Given the description of an element on the screen output the (x, y) to click on. 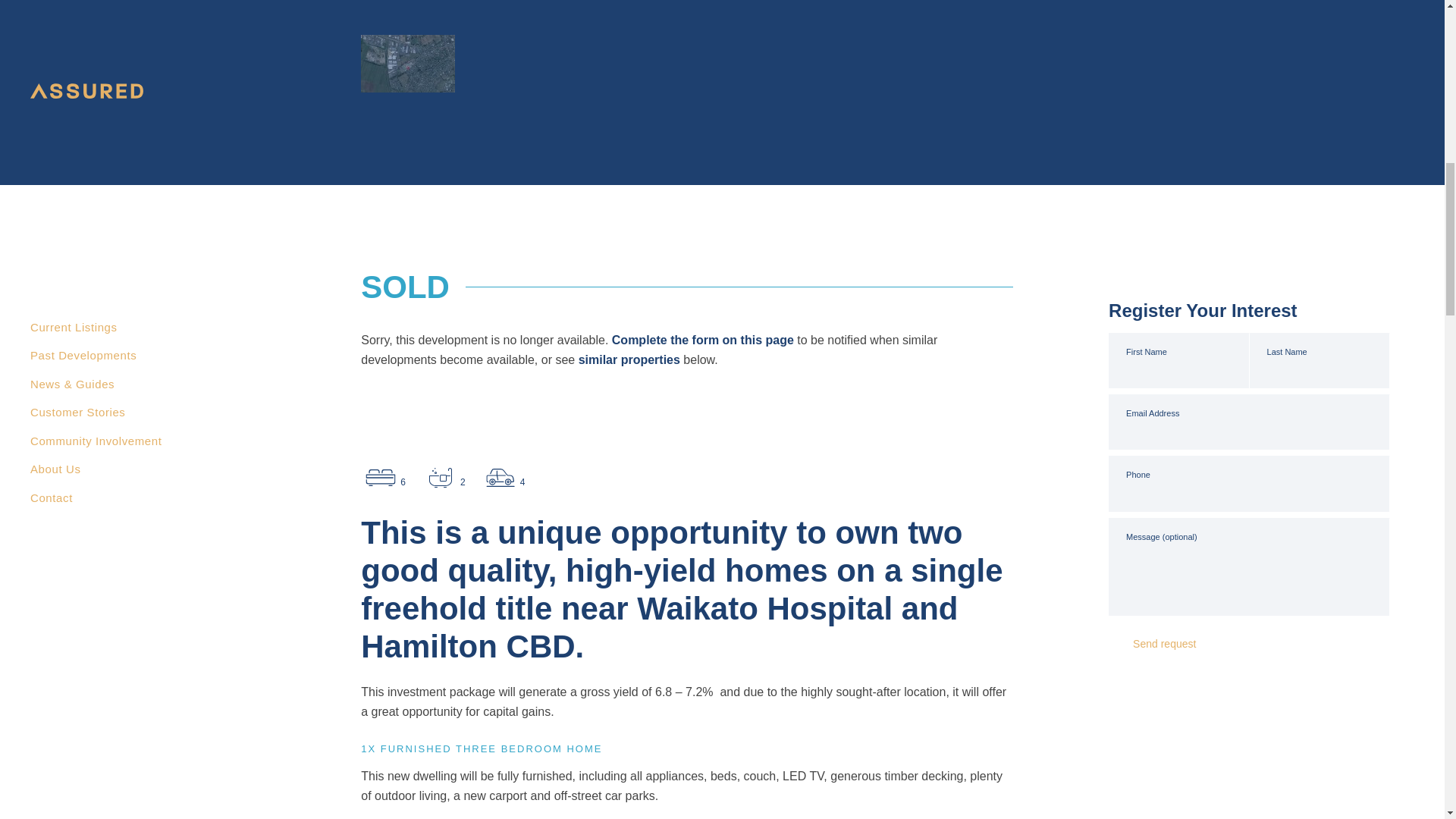
similar properties (628, 359)
Send request (1178, 642)
Send request (1178, 642)
